Given the description of an element on the screen output the (x, y) to click on. 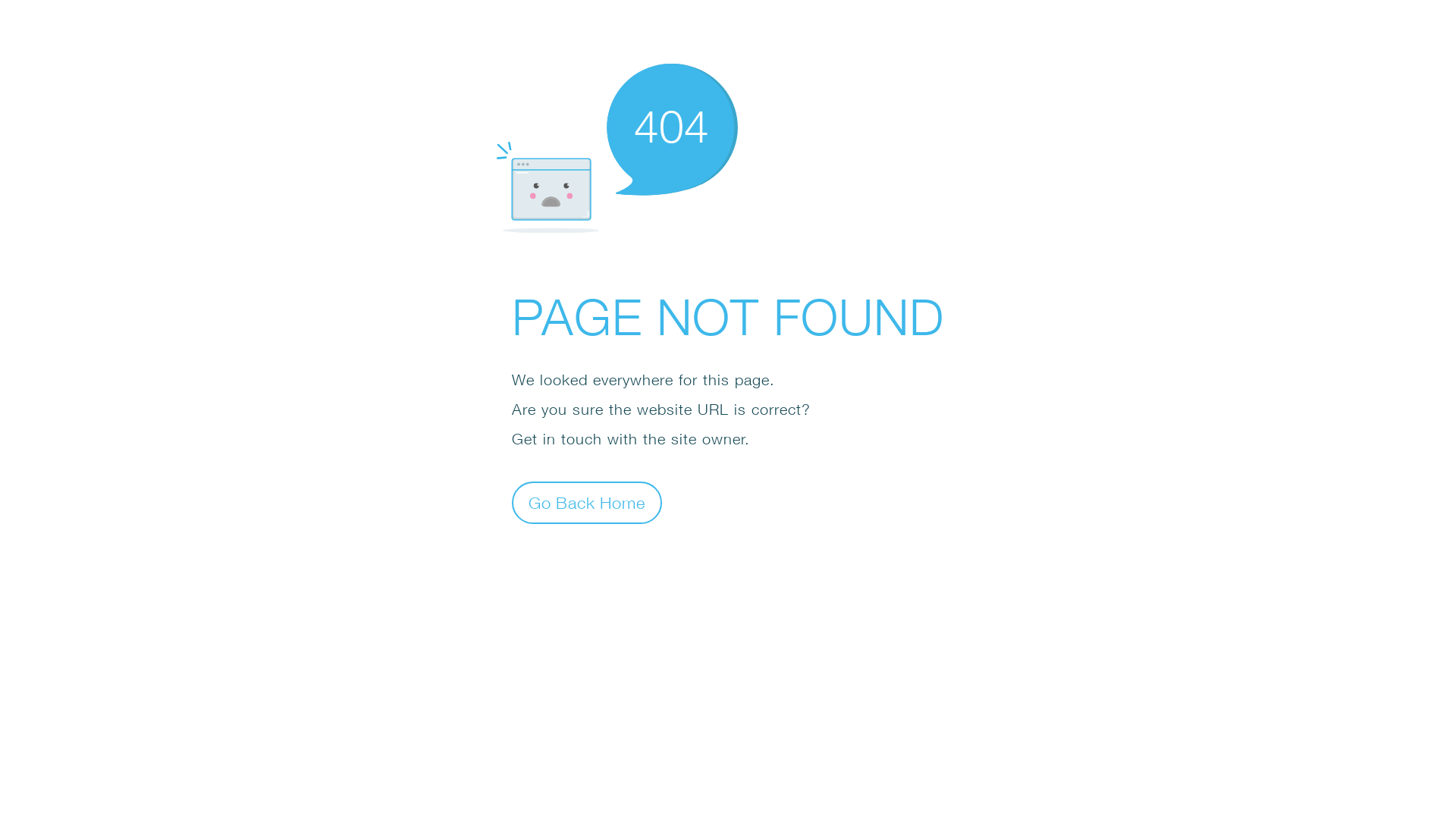
Go Back Home Element type: text (586, 502)
